Given the description of an element on the screen output the (x, y) to click on. 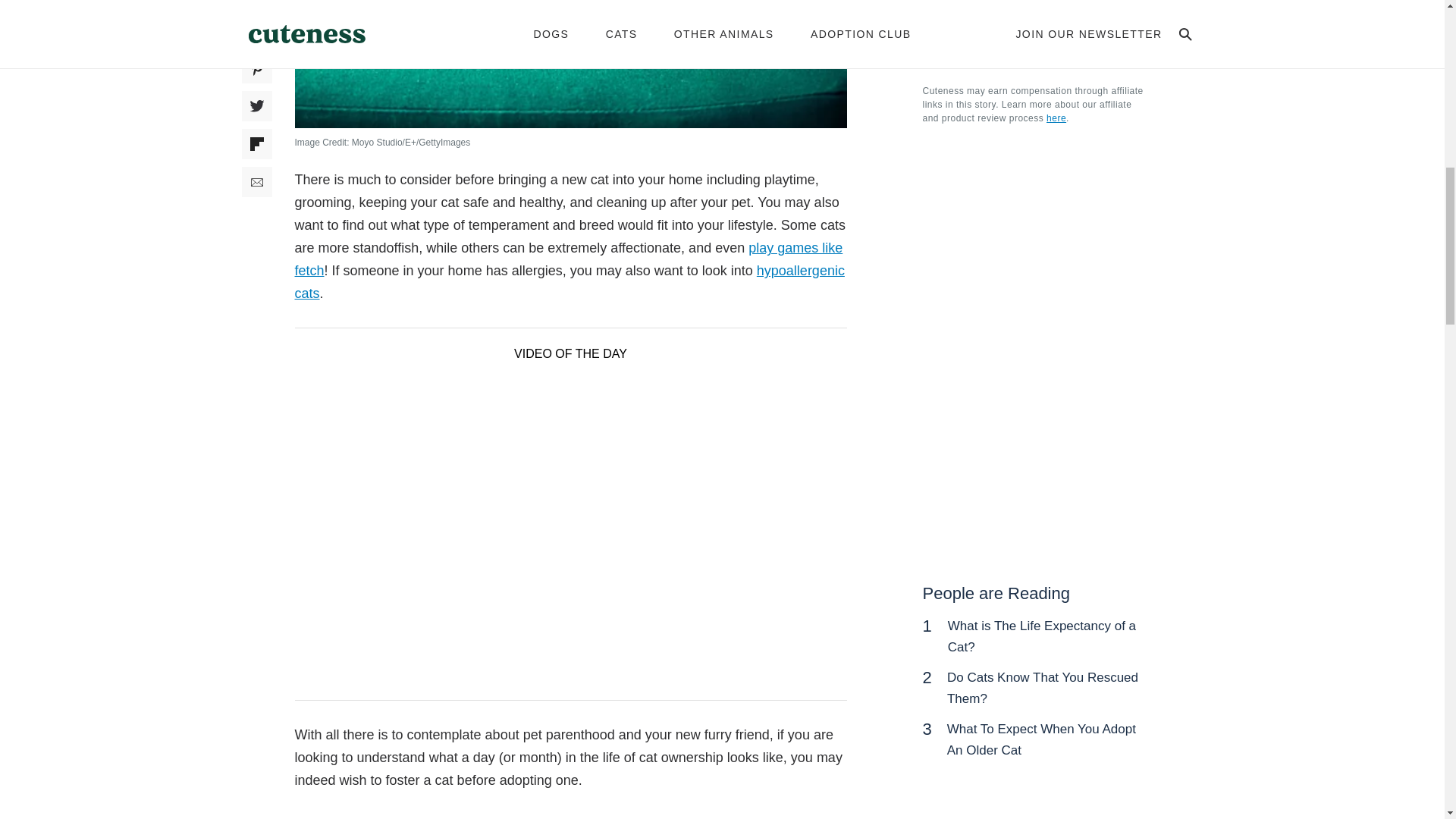
Do Cats Know That You Rescued Them? (1042, 687)
What To Expect When You Adopt An Older Cat (1041, 739)
What is The Life Expectancy of a Cat? (1041, 636)
